Given the description of an element on the screen output the (x, y) to click on. 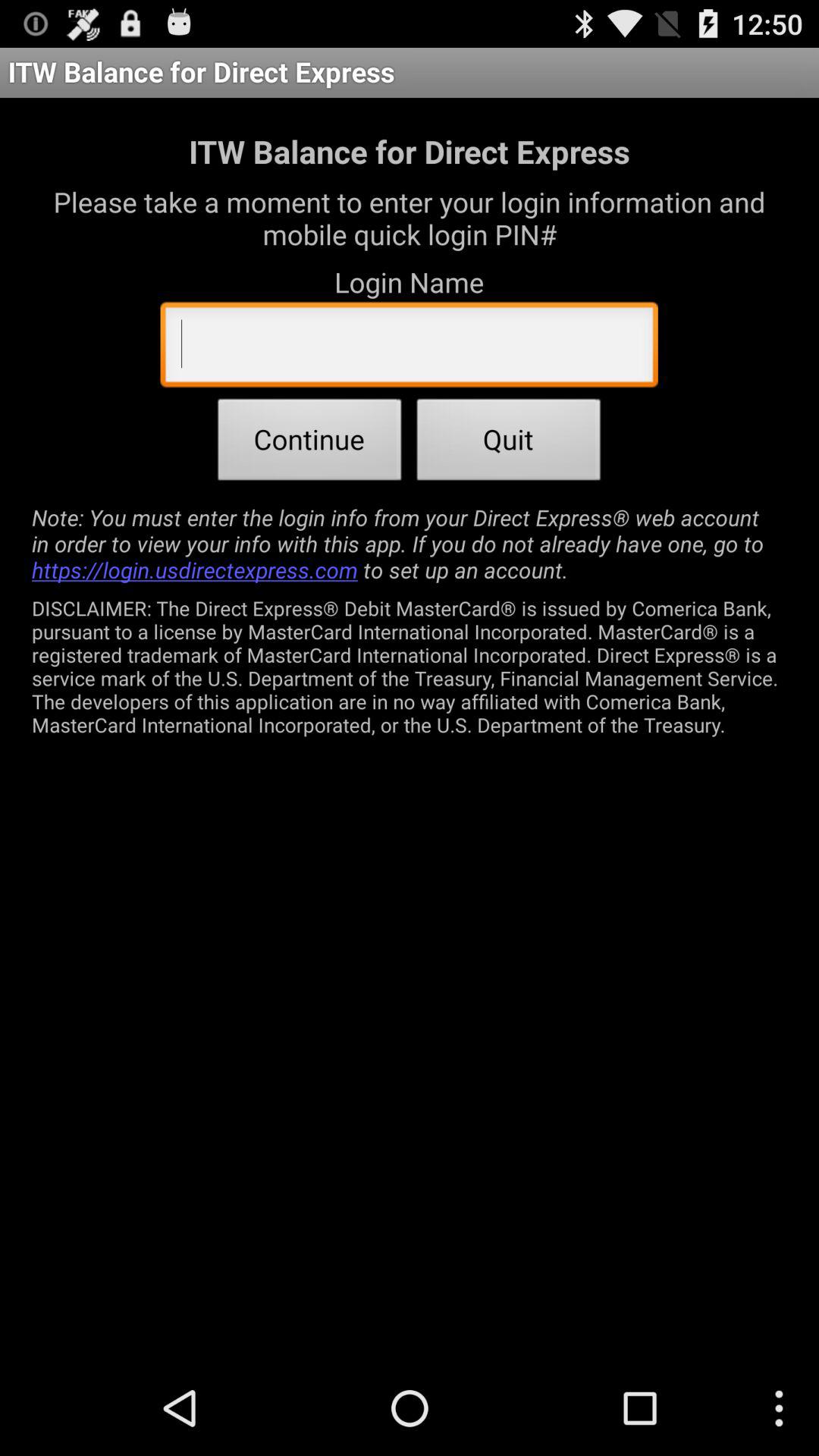
choose quit icon (508, 443)
